Given the description of an element on the screen output the (x, y) to click on. 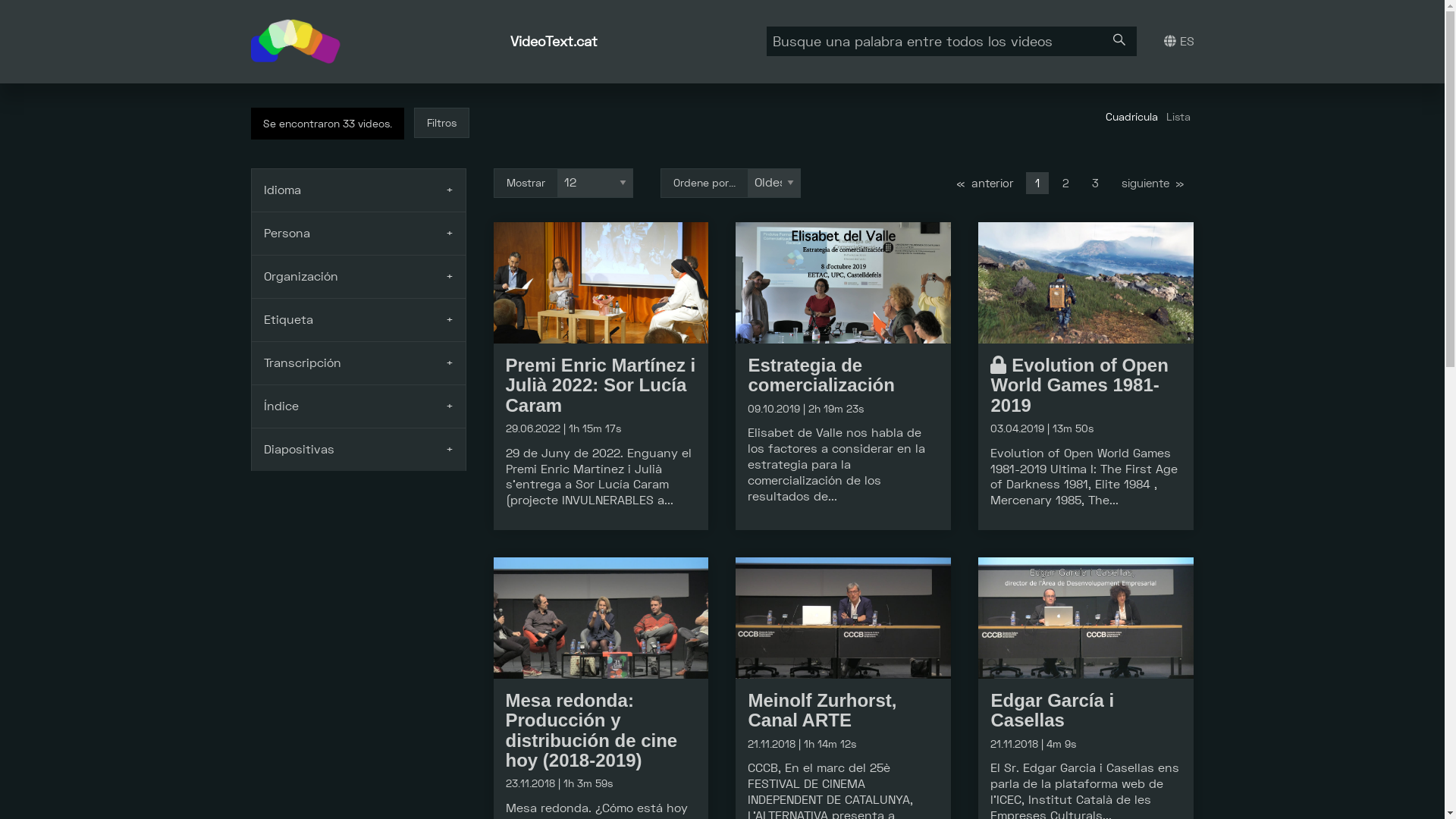
2 Element type: text (1064, 183)
Idioma Element type: text (357, 189)
Lista Element type: text (1177, 116)
Filtros Element type: text (441, 122)
Persona Element type: text (357, 232)
ES Element type: text (1178, 41)
VideoText.cat Element type: text (553, 41)
Diapositivas Element type: text (357, 448)
siguiente Element type: text (1151, 183)
OK Element type: text (20, 6)
Password protected Element type: hover (998, 364)
3 Element type: text (1094, 183)
Etiqueta Element type: text (357, 319)
